Given the description of an element on the screen output the (x, y) to click on. 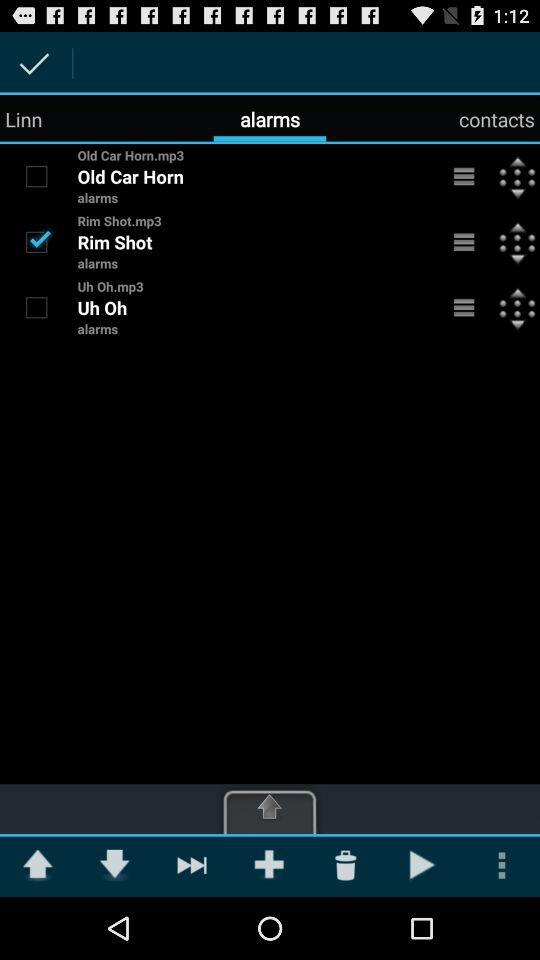
checkmark box (36, 176)
